Given the description of an element on the screen output the (x, y) to click on. 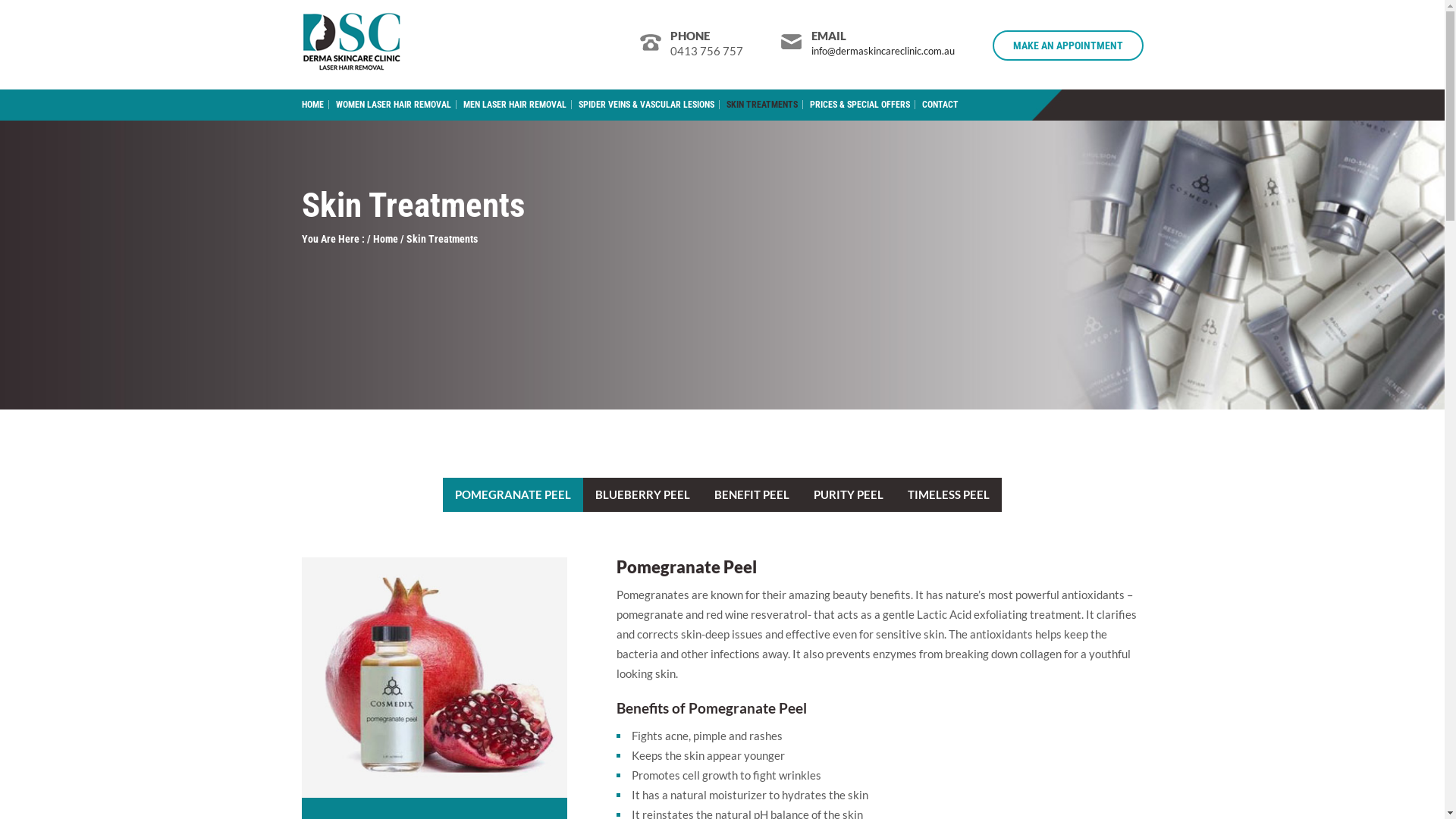
SKIN TREATMENTS Element type: text (762, 104)
BLUEBERRY PEEL Element type: text (642, 494)
BENEFIT PEEL Element type: text (751, 494)
HOME Element type: text (315, 104)
MEN LASER HAIR REMOVAL Element type: text (514, 104)
info@dermaskincareclinic.com.au Element type: text (882, 50)
MAKE AN APPOINTMENT Element type: text (1066, 45)
CONTACT Element type: text (940, 104)
Home Element type: text (385, 238)
SPIDER VEINS & VASCULAR LESIONS Element type: text (645, 104)
POMEGRANATE PEEL Element type: text (512, 494)
PURITY PEEL Element type: text (848, 494)
PRICES & SPECIAL OFFERS Element type: text (860, 104)
TIMELESS PEEL Element type: text (948, 494)
WOMEN LASER HAIR REMOVAL Element type: text (392, 104)
0413 756 757 Element type: text (706, 50)
